Given the description of an element on the screen output the (x, y) to click on. 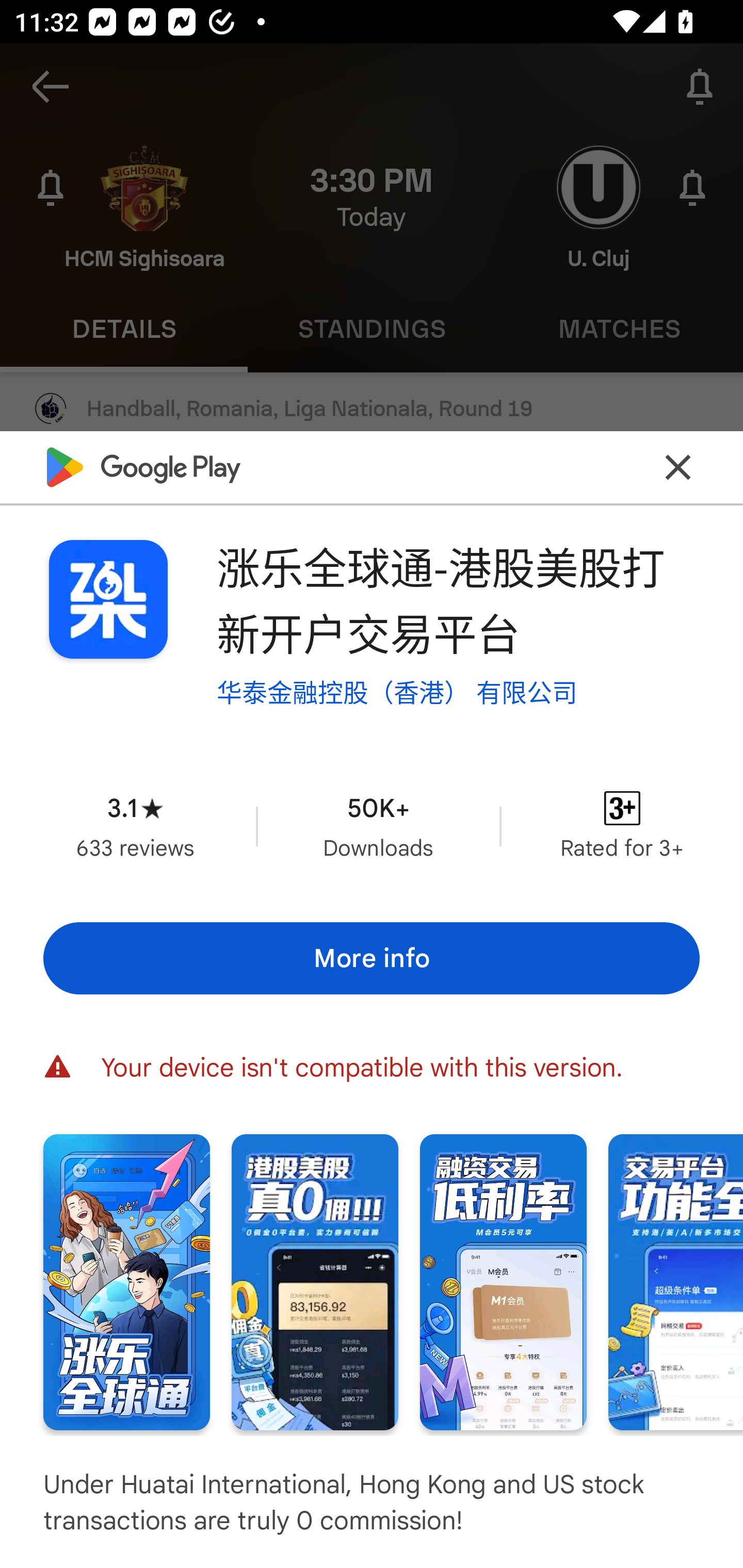
Close (677, 467)
Image of app or game icon for 涨乐全球通-港股美股打新开户交易平台 (108, 599)
华泰金融控股（香港） 有限公司 (396, 692)
More info (371, 957)
Screenshot "1" of "6" (126, 1281)
Screenshot "2" of "6" (314, 1281)
Screenshot "3" of "6" (502, 1281)
